Given the description of an element on the screen output the (x, y) to click on. 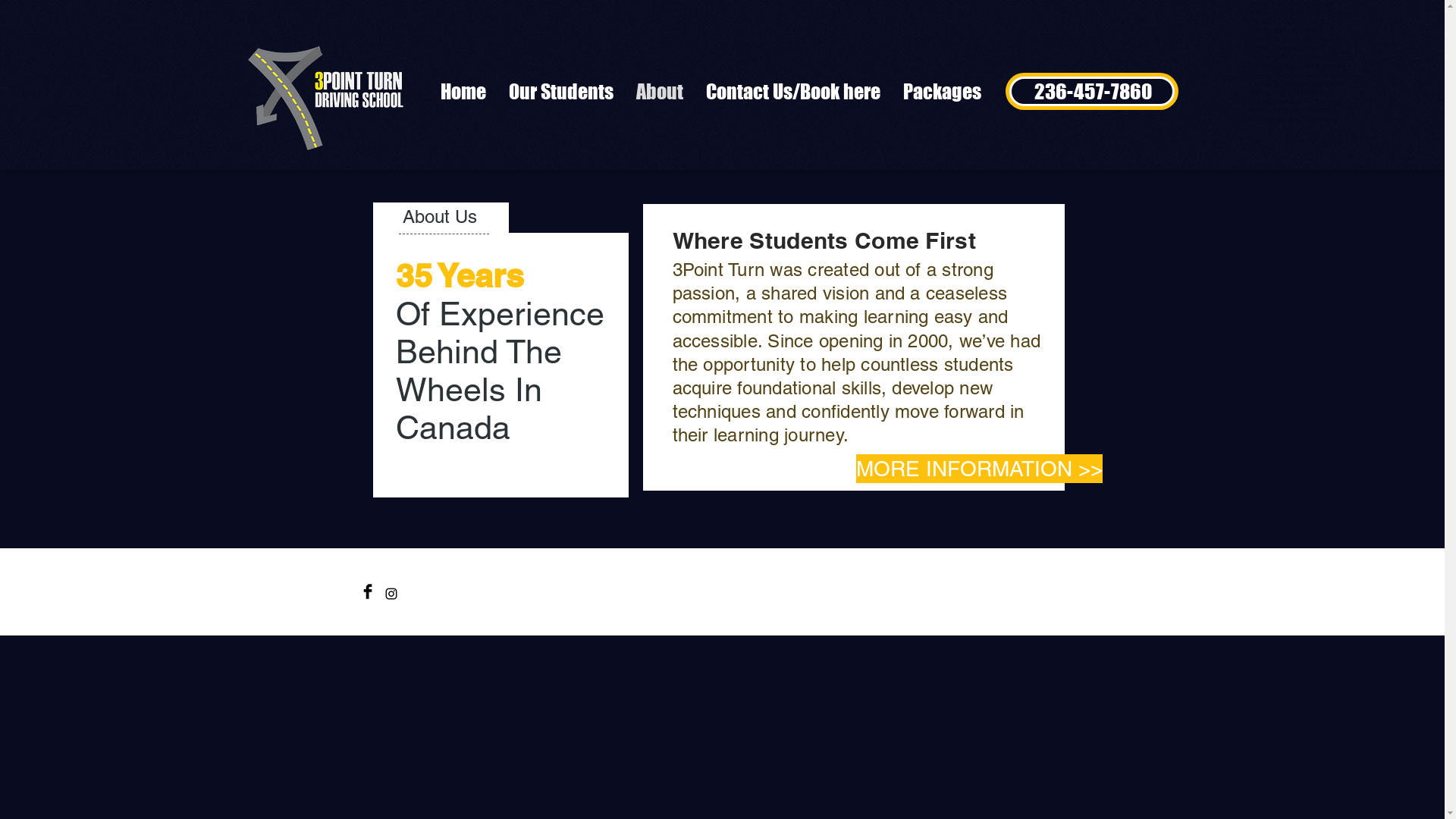
Our Students Element type: text (560, 91)
About Element type: text (659, 91)
Capture.PNG Element type: hover (328, 94)
MORE INFORMATION >> Element type: text (978, 468)
Home Element type: text (463, 91)
Packages Element type: text (941, 91)
Contact Us/Book here Element type: text (792, 91)
